Given the description of an element on the screen output the (x, y) to click on. 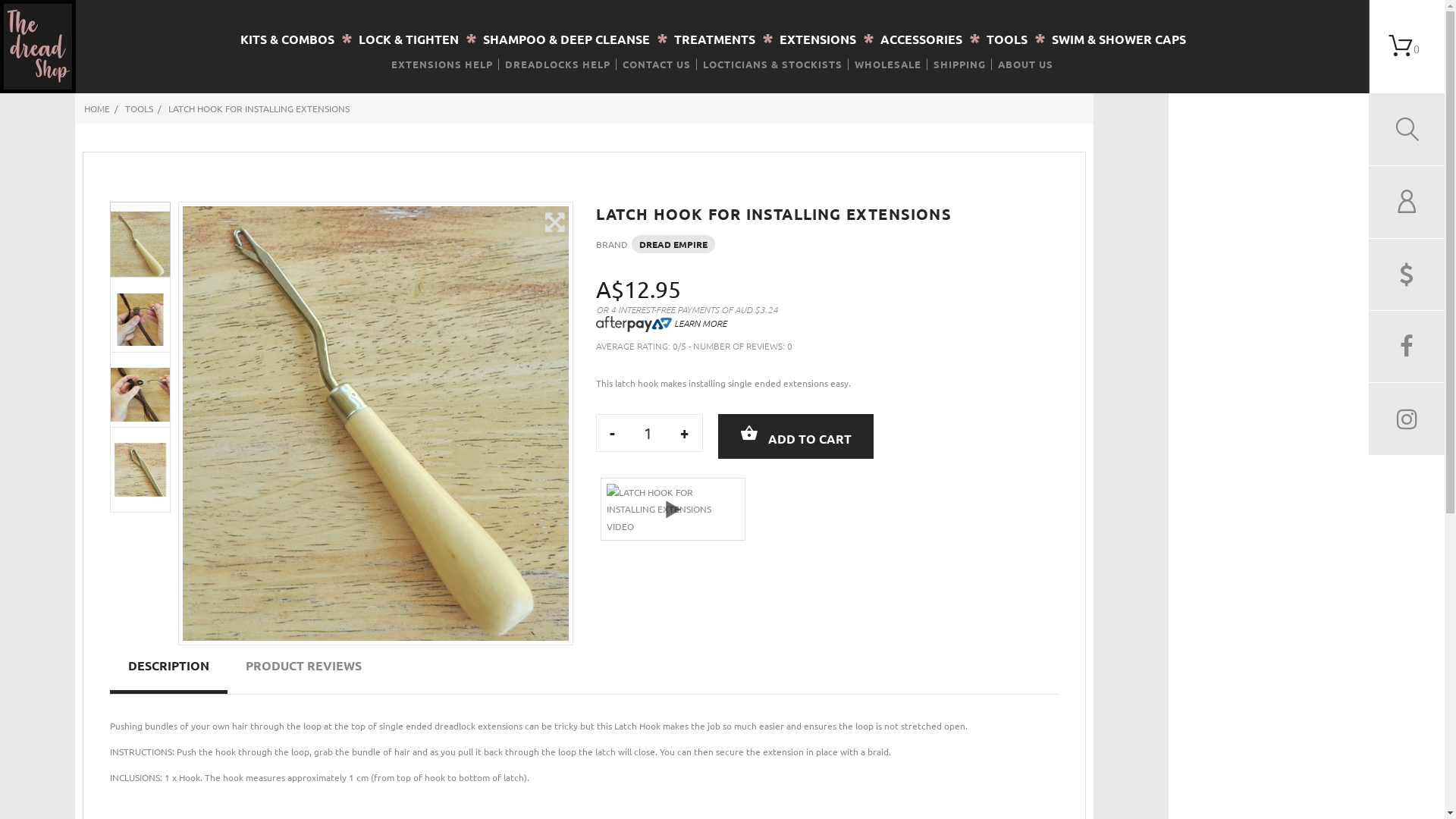
ABOUT US Element type: text (1025, 63)
LOCK & TIGHTEN Element type: text (407, 39)
DREAD EMPIRE Element type: text (673, 244)
- Element type: text (612, 432)
SWIM & SHOWER CAPS Element type: text (1117, 39)
ADD TO CART Element type: text (796, 436)
PRODUCT REVIEWS Element type: text (303, 666)
DESCRIPTION Element type: text (168, 666)
TOOLS Element type: text (1005, 39)
HOME Element type: text (96, 108)
Refresh Element type: text (22, 10)
LOCTICIANS & STOCKISTS Element type: text (772, 63)
CONTACT US Element type: text (656, 63)
Video: Latch Hook for installing extensions Element type: hover (672, 508)
EXTENSIONS HELP Element type: text (441, 63)
The Dread Shop Element type: hover (37, 46)
TREATMENTS Element type: text (713, 39)
Latch Hook for installing extensions video Element type: hover (672, 508)
+ Element type: text (684, 432)
EXTENSIONS Element type: text (817, 39)
TOOLS Element type: text (139, 108)
LEARN MORE Element type: text (661, 322)
0 Element type: text (1406, 46)
WHOLESALE Element type: text (887, 63)
DREADLOCKS HELP Element type: text (557, 63)
SHAMPOO & DEEP CLEANSE Element type: text (565, 39)
SHIPPING Element type: text (959, 63)
ACCESSORIES Element type: text (920, 39)
KITS & COMBOS Element type: text (286, 39)
